Given the description of an element on the screen output the (x, y) to click on. 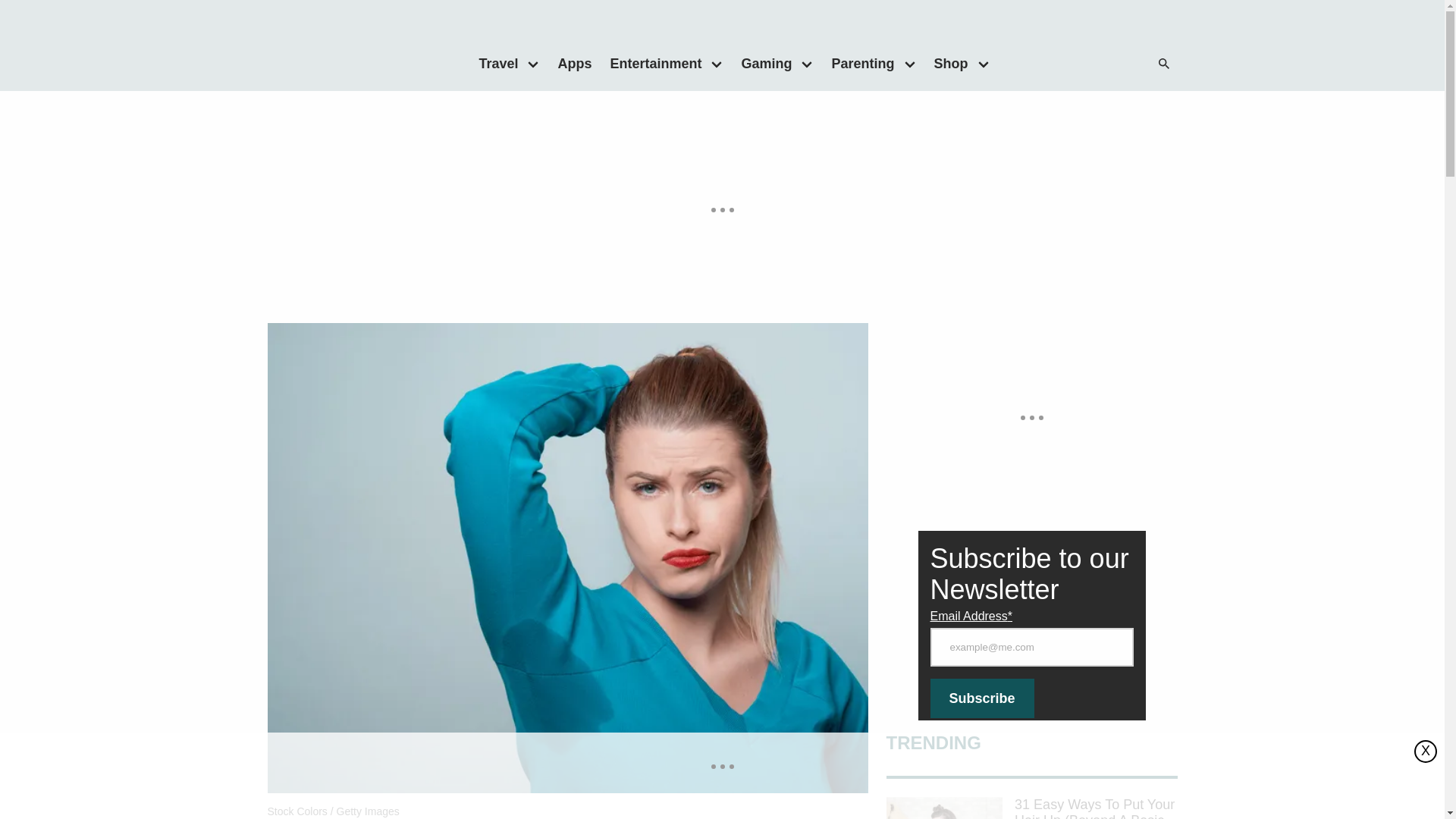
Open menu (807, 63)
Open menu (982, 63)
Twitter (1079, 63)
Parenting (857, 63)
Facebook (1048, 63)
Open menu (716, 63)
Open menu (909, 63)
Instagram (1109, 63)
Open menu (533, 63)
Gaming (762, 63)
